Given the description of an element on the screen output the (x, y) to click on. 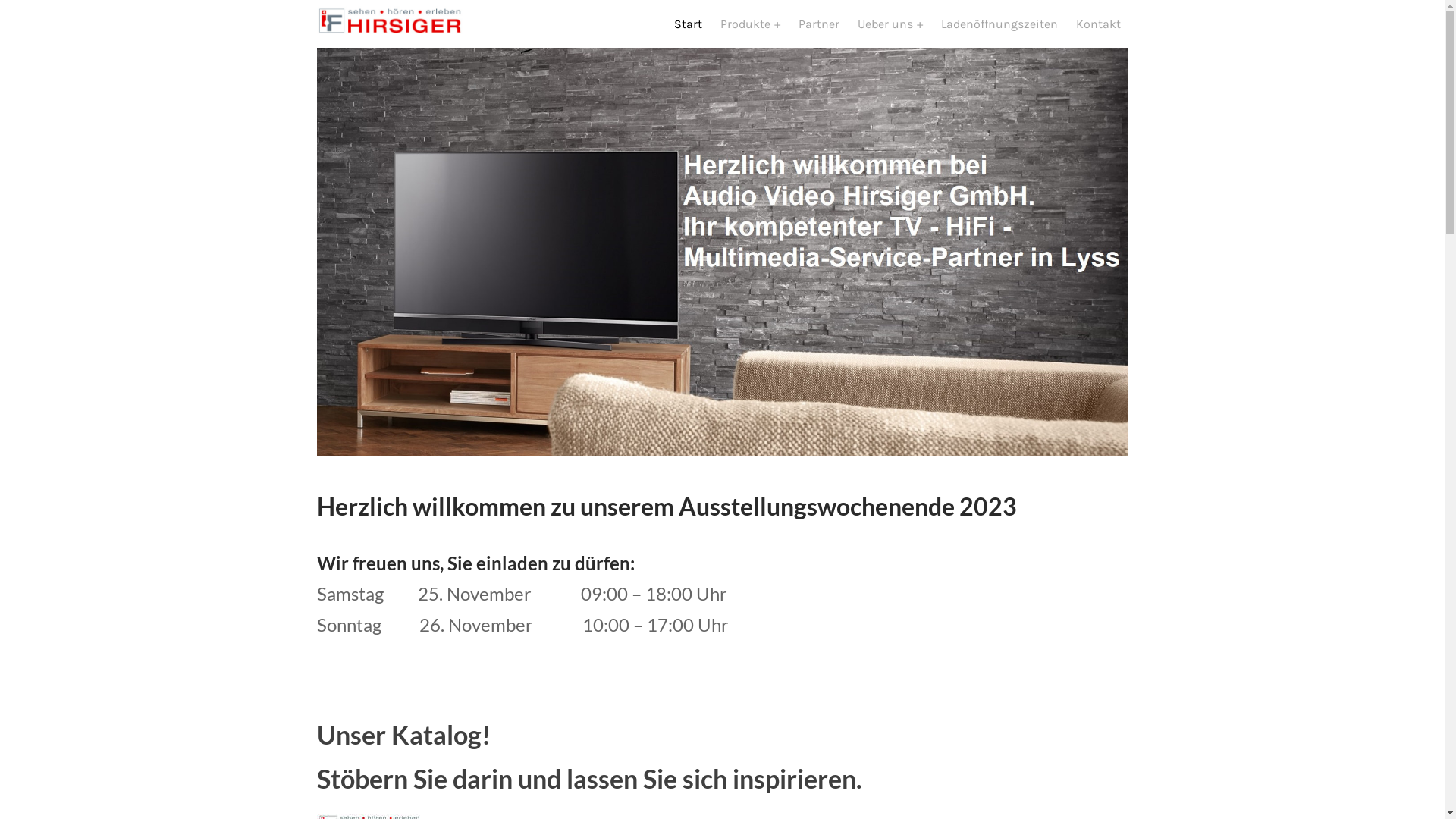
Partner Element type: text (818, 23)
Start Element type: text (688, 23)
Kontakt Element type: text (1098, 23)
Produkte Element type: text (749, 23)
Ueber uns Element type: text (889, 23)
